Given the description of an element on the screen output the (x, y) to click on. 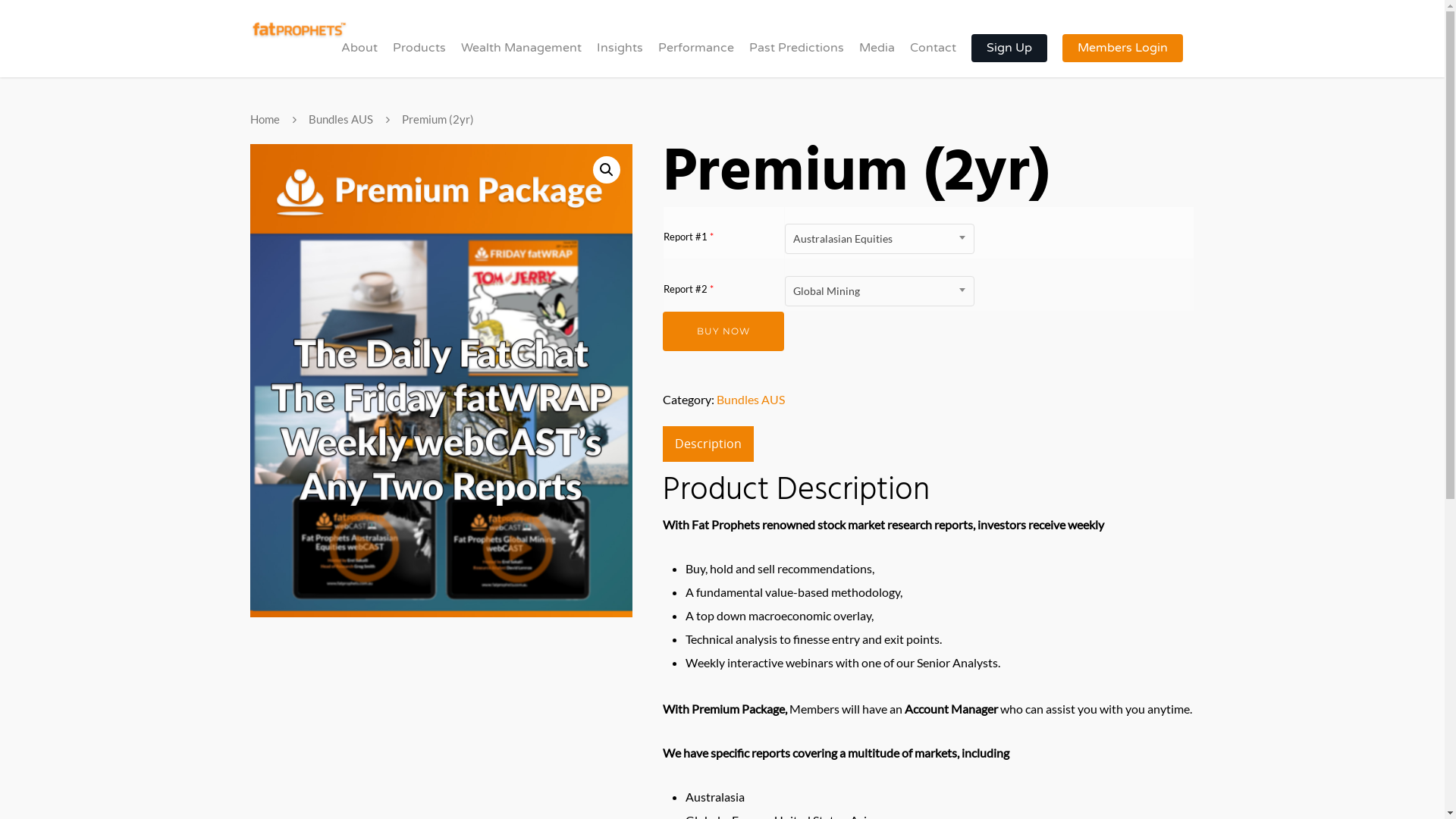
Bundles AUS Element type: text (340, 118)
Contact Element type: text (933, 58)
Description Element type: text (707, 443)
Sign Up Element type: text (1009, 58)
Bundles AUS Element type: text (750, 399)
Insights Element type: text (619, 58)
BUY NOW Element type: text (723, 331)
Home Element type: text (264, 118)
Products Element type: text (418, 58)
About Element type: text (359, 58)
Media Element type: text (876, 58)
Premium web Element type: hover (441, 380)
Members Login Element type: text (1122, 58)
Performance Element type: text (696, 58)
Past Predictions Element type: text (796, 58)
Wealth Management Element type: text (521, 58)
